Given the description of an element on the screen output the (x, y) to click on. 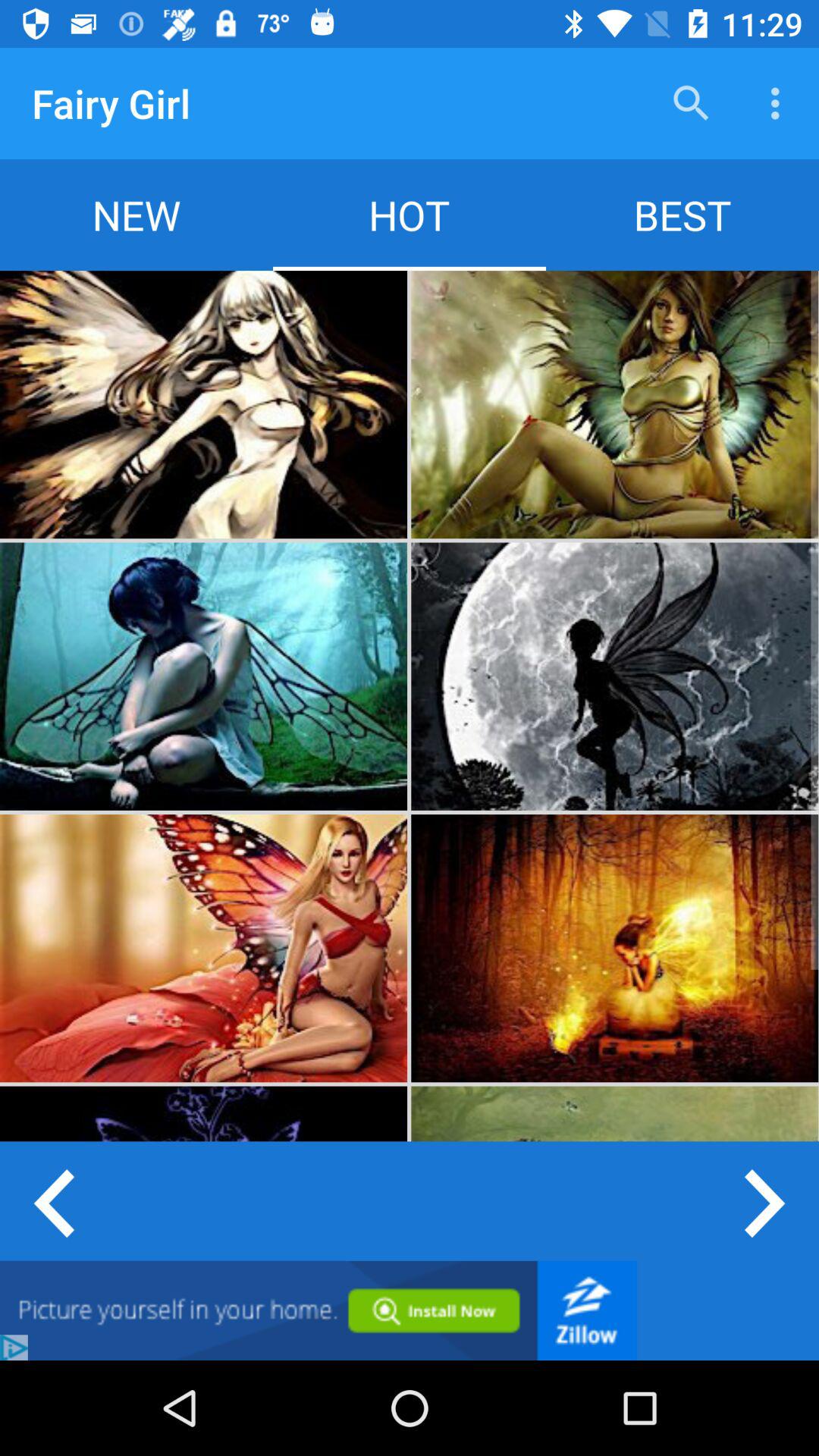
google advertisement (318, 1310)
